Given the description of an element on the screen output the (x, y) to click on. 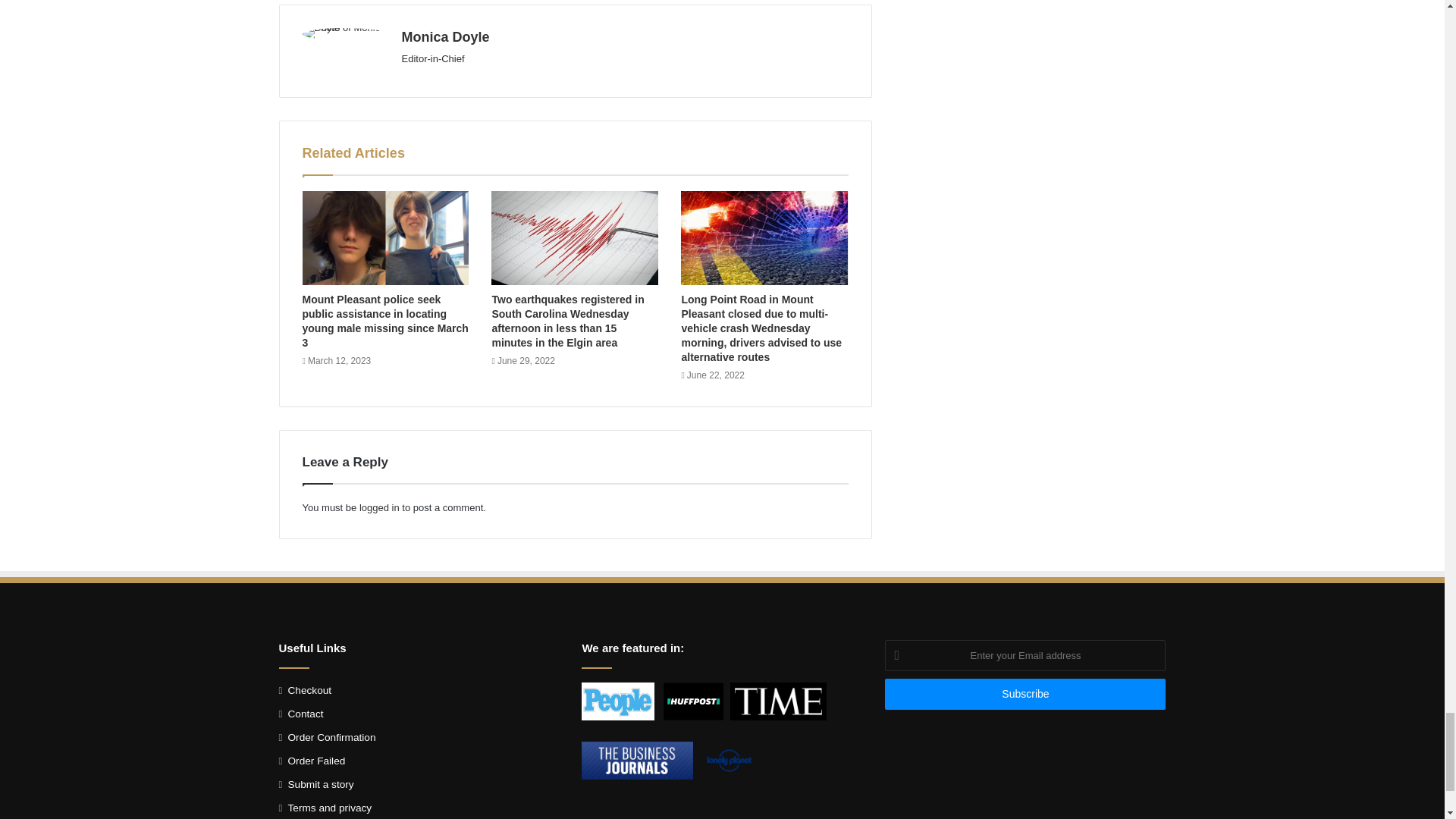
Subscribe (1025, 694)
